Given the description of an element on the screen output the (x, y) to click on. 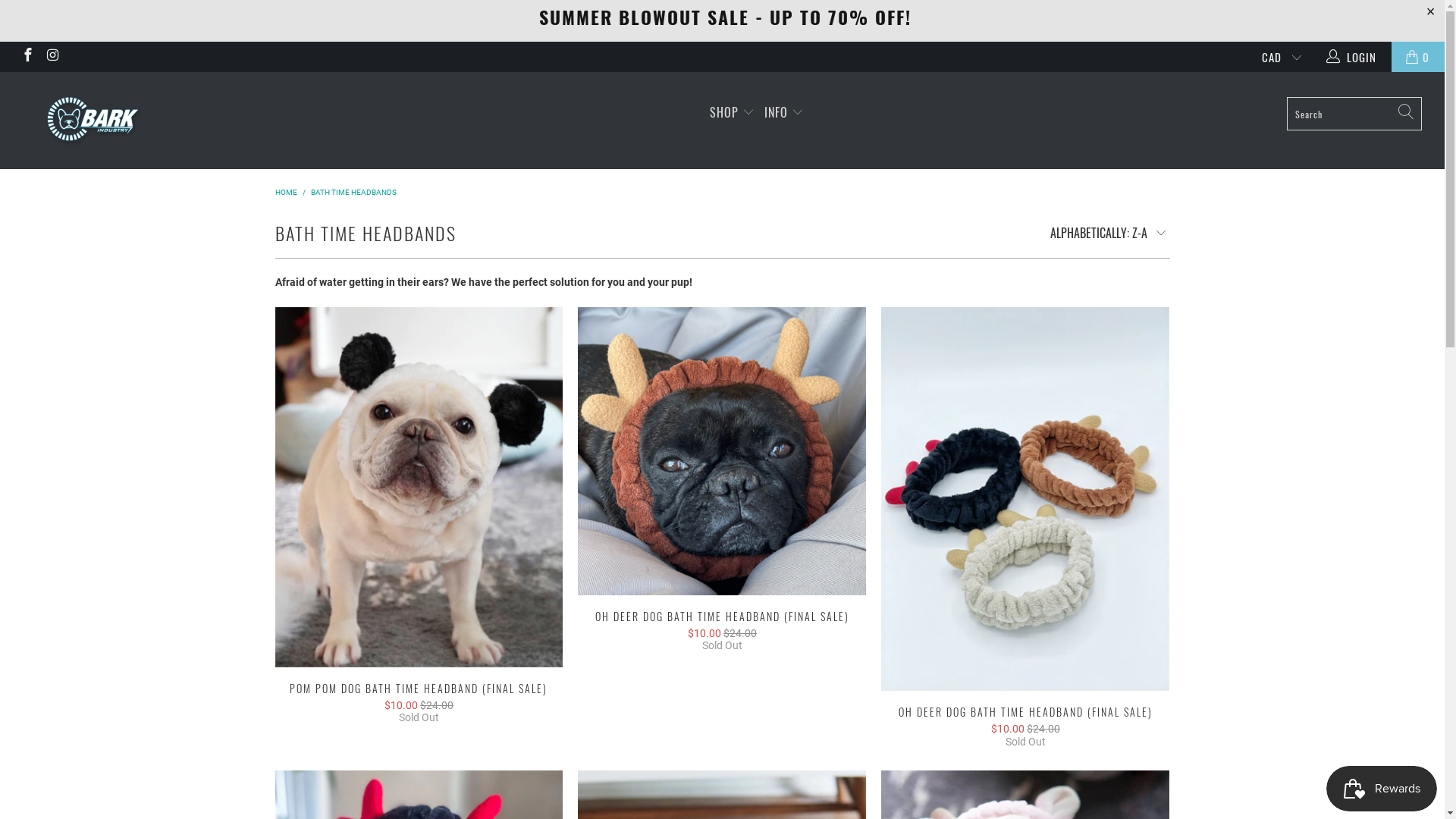
BATH TIME HEADBANDS Element type: text (353, 192)
Bark Industry on Facebook Element type: hover (26, 56)
Smile.io Rewards Program Launcher Element type: hover (1381, 788)
0 Element type: text (1417, 56)
LOGIN Element type: text (1352, 56)
SUMMER BLOWOUT SALE - UP TO 70% OFF! Element type: text (724, 16)
Bark Industry Element type: hover (123, 120)
HOME Element type: text (285, 192)
INFO Element type: text (783, 112)
SHOP Element type: text (731, 112)
Bark Industry on Instagram Element type: hover (52, 56)
